Given the description of an element on the screen output the (x, y) to click on. 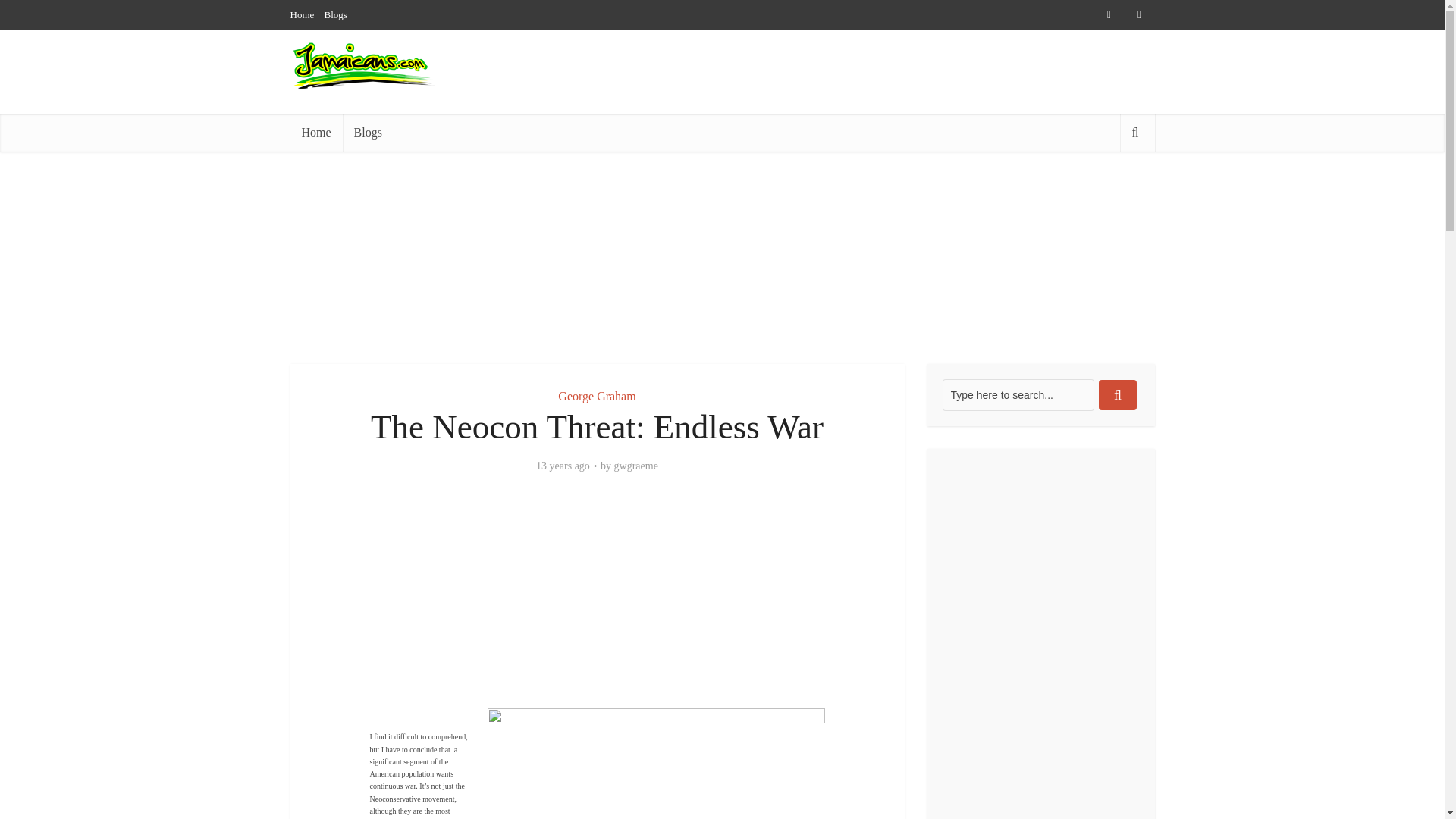
Advertisement (878, 143)
Blogs (367, 132)
Advertisement (597, 602)
George Graham (595, 395)
Home (301, 14)
gwgraeme (636, 466)
Type here to search... (1017, 395)
Home (315, 132)
Type here to search... (1017, 395)
Blogs (335, 14)
